Given the description of an element on the screen output the (x, y) to click on. 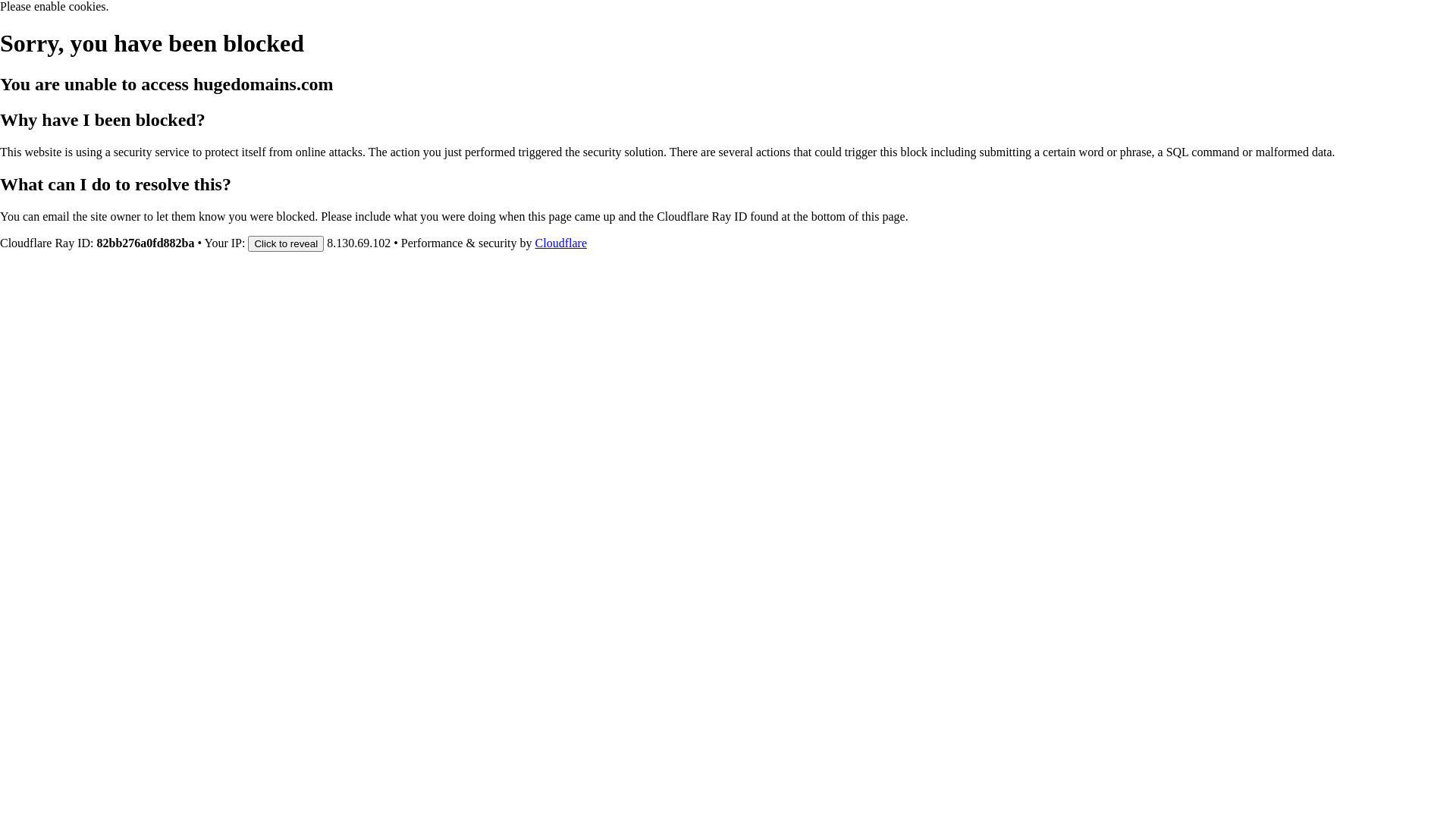
Click to reveal Element type: text (285, 243)
Cloudflare Element type: text (560, 242)
